Given the description of an element on the screen output the (x, y) to click on. 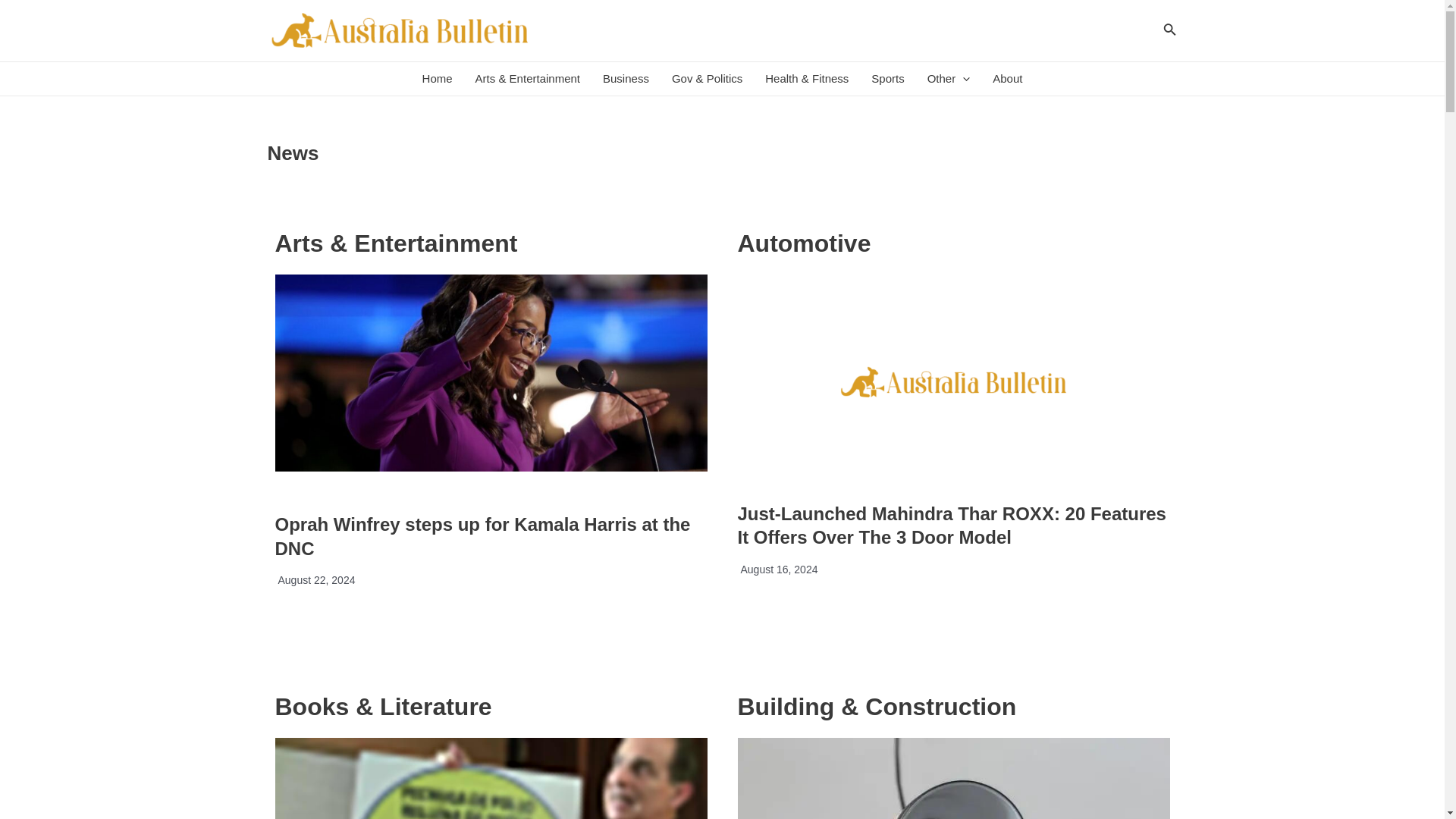
Sports (887, 78)
Business (626, 78)
Home (437, 78)
About (1007, 78)
Other (948, 78)
